Given the description of an element on the screen output the (x, y) to click on. 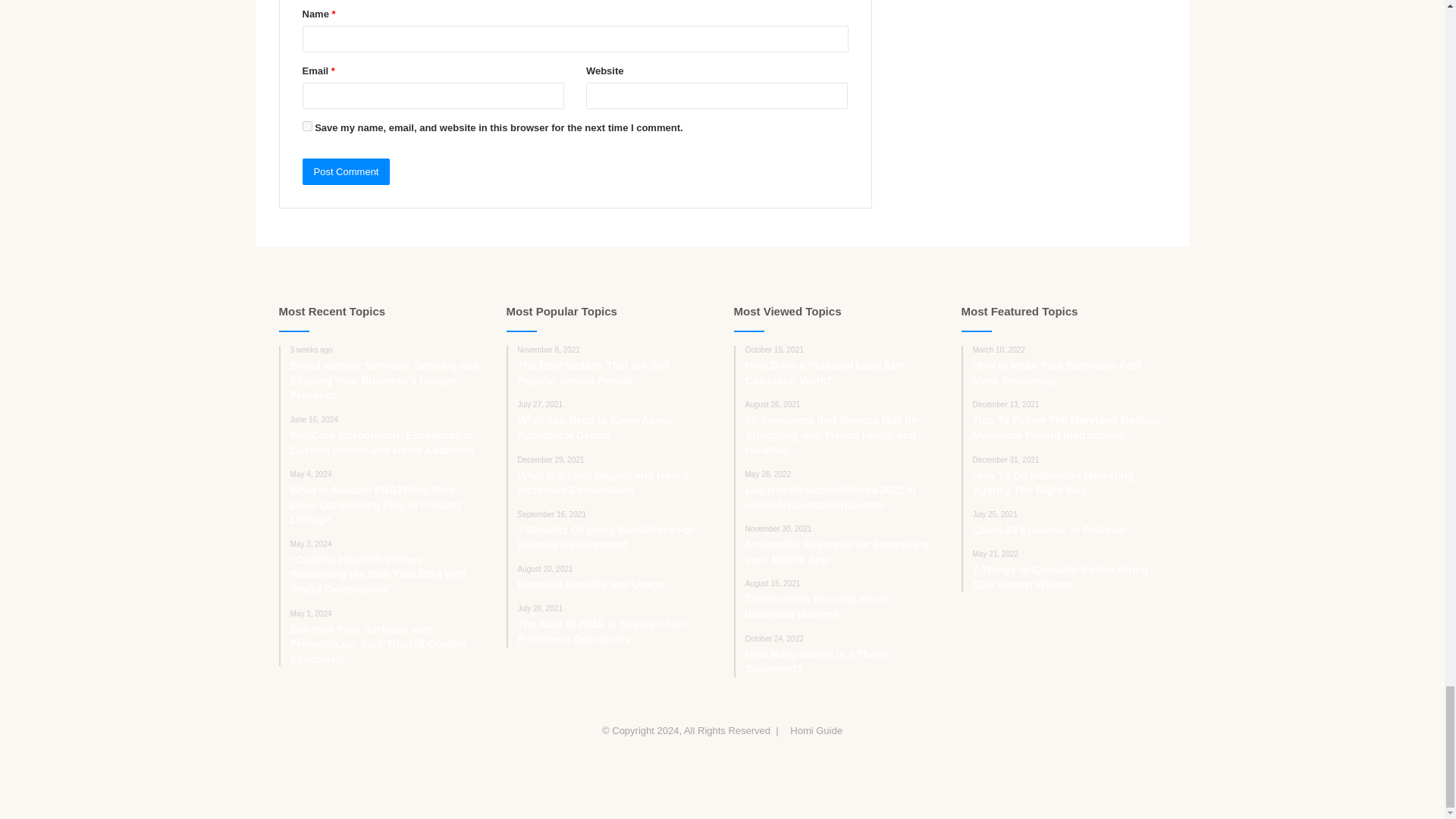
yes (306, 126)
Post Comment (345, 171)
